Given the description of an element on the screen output the (x, y) to click on. 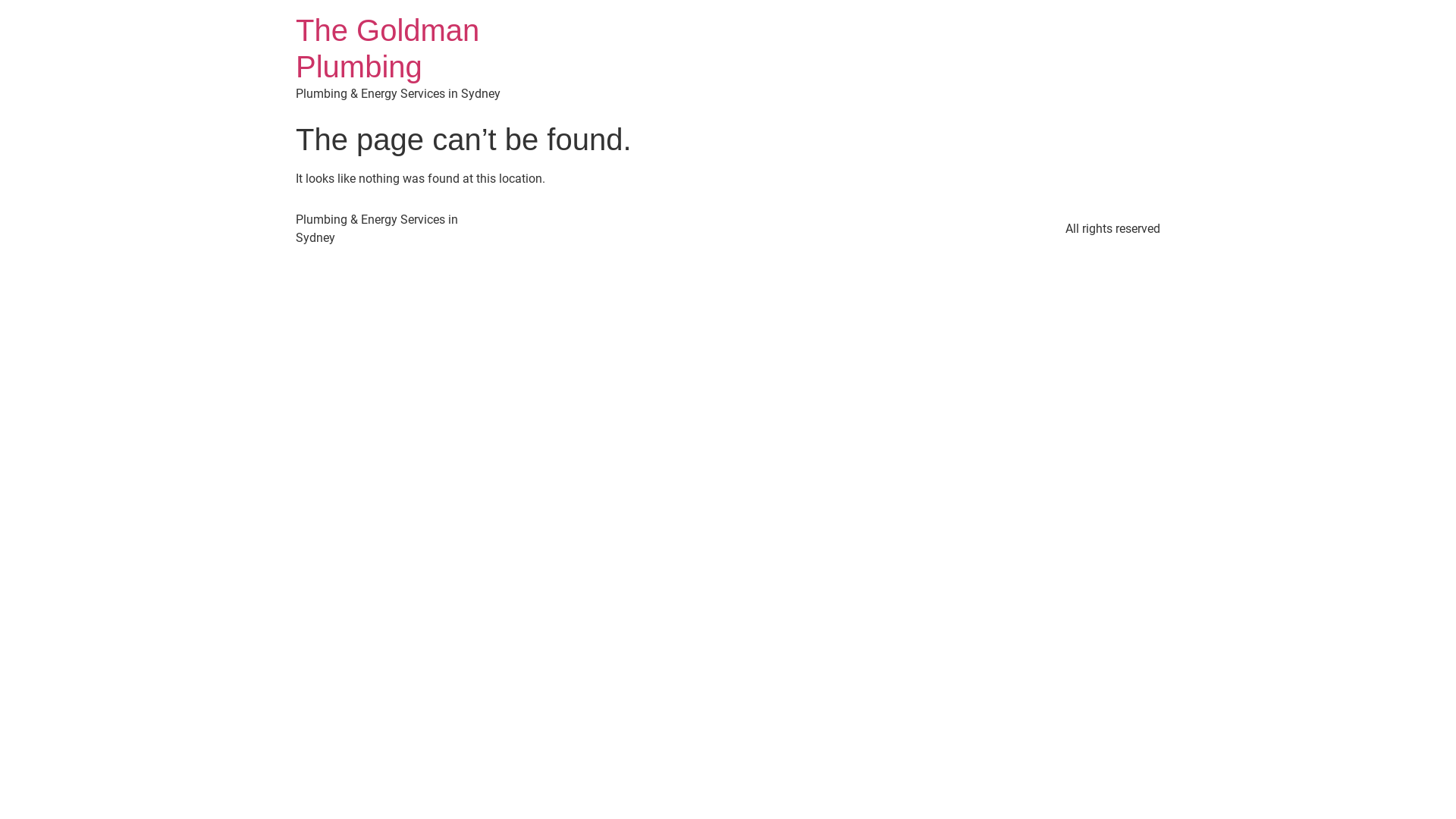
The Goldman Plumbing Element type: text (387, 48)
